Given the description of an element on the screen output the (x, y) to click on. 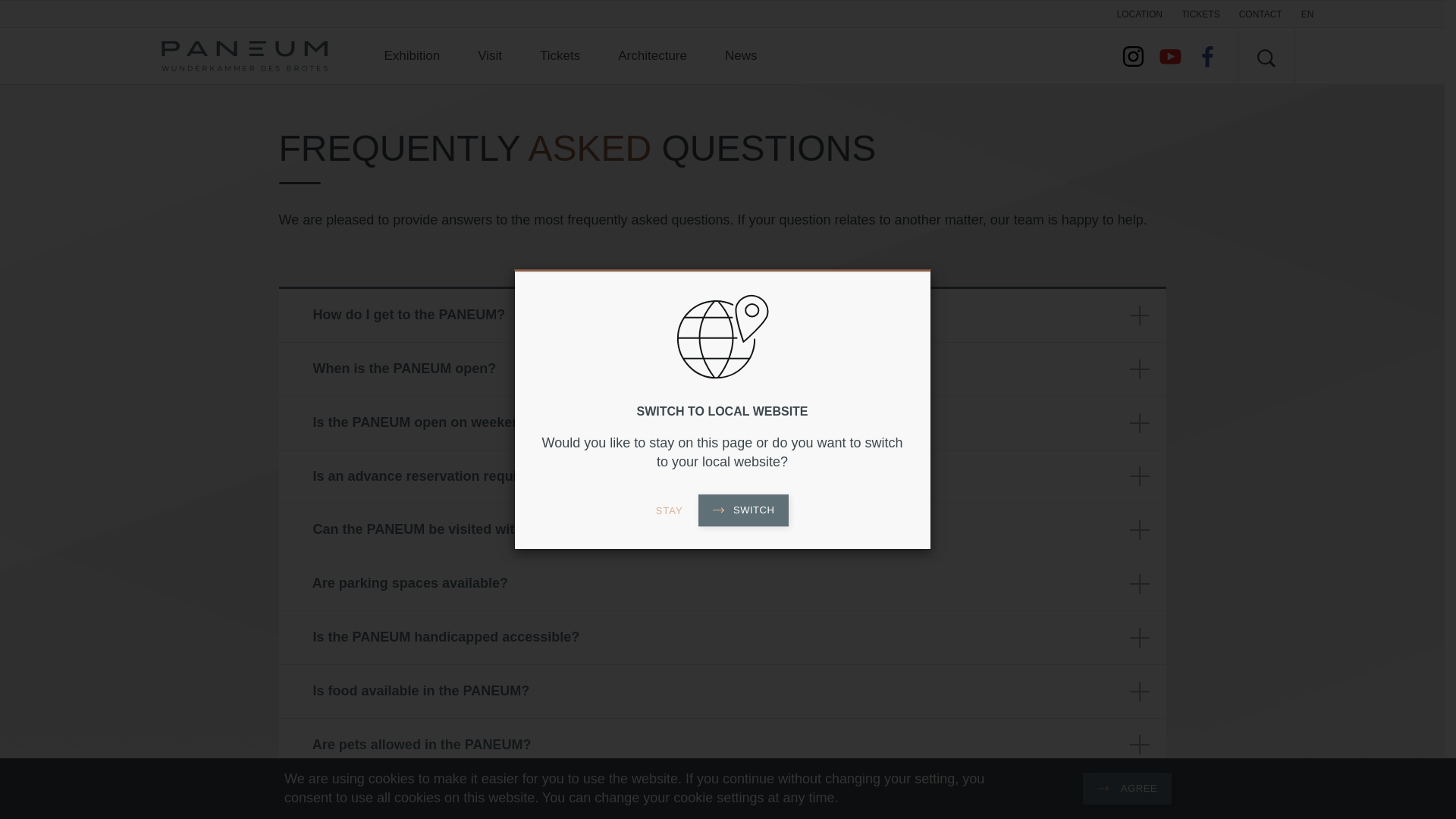
How do I get to the PANEUM? (722, 315)
Search (1265, 55)
STAY (669, 510)
Tickets (559, 55)
When is the PANEUM open? (722, 369)
Are pets allowed in the PANEUM? (722, 745)
Visit (489, 55)
CONTACT (1260, 14)
Can the PANEUM be rented for conferences or events? (722, 795)
Can the PANEUM be visited without a guide? (722, 529)
